Given the description of an element on the screen output the (x, y) to click on. 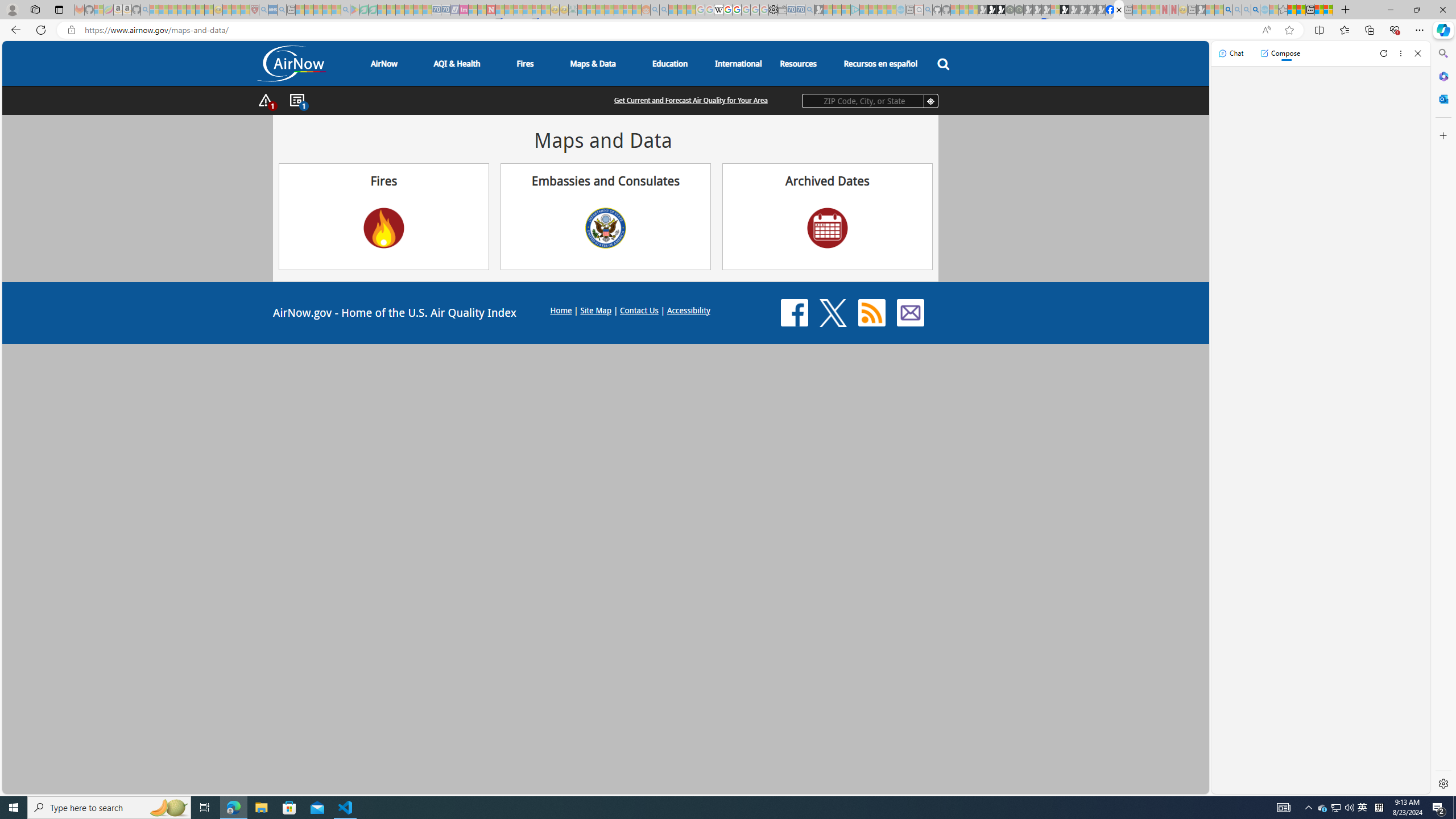
AutomationID: nav-announcements-toggle (296, 100)
Embassies and Consulates US Department of State Seal (605, 216)
Archived Dates (826, 227)
